Given the description of an element on the screen output the (x, y) to click on. 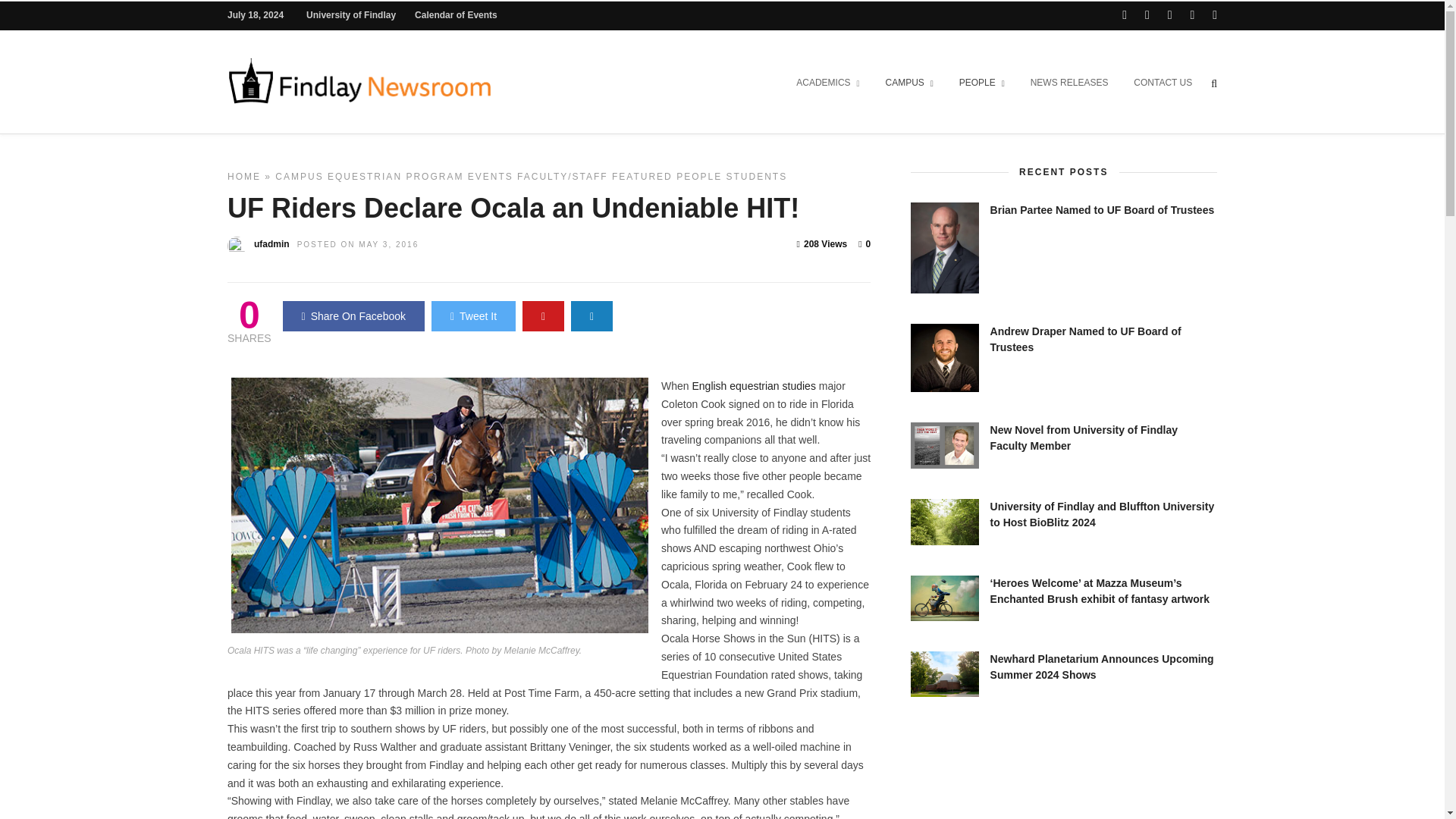
Share On Twitter (472, 316)
University of Findlay (350, 14)
Share On Pinterest (543, 316)
Share by Email (591, 316)
Linkedin (1191, 15)
Instagram (1214, 15)
Youtube (1169, 15)
Calendar of Events (455, 14)
Share On Facebook (353, 316)
